Given the description of an element on the screen output the (x, y) to click on. 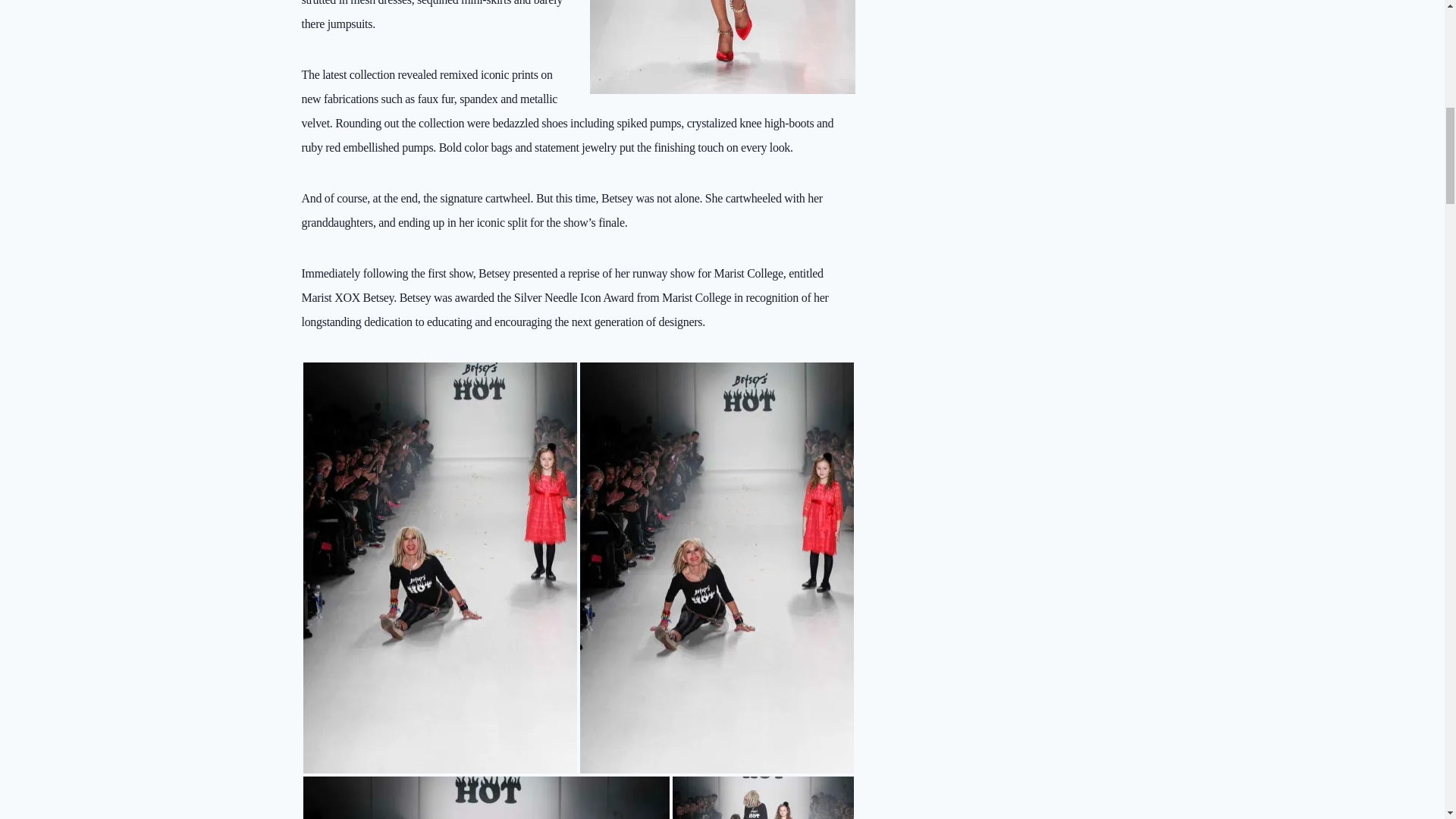
FW14 NANETTE LEPORE NEW YORK (762, 797)
FW14 NANETTE LEPORE NEW YORK (485, 797)
